Given the description of an element on the screen output the (x, y) to click on. 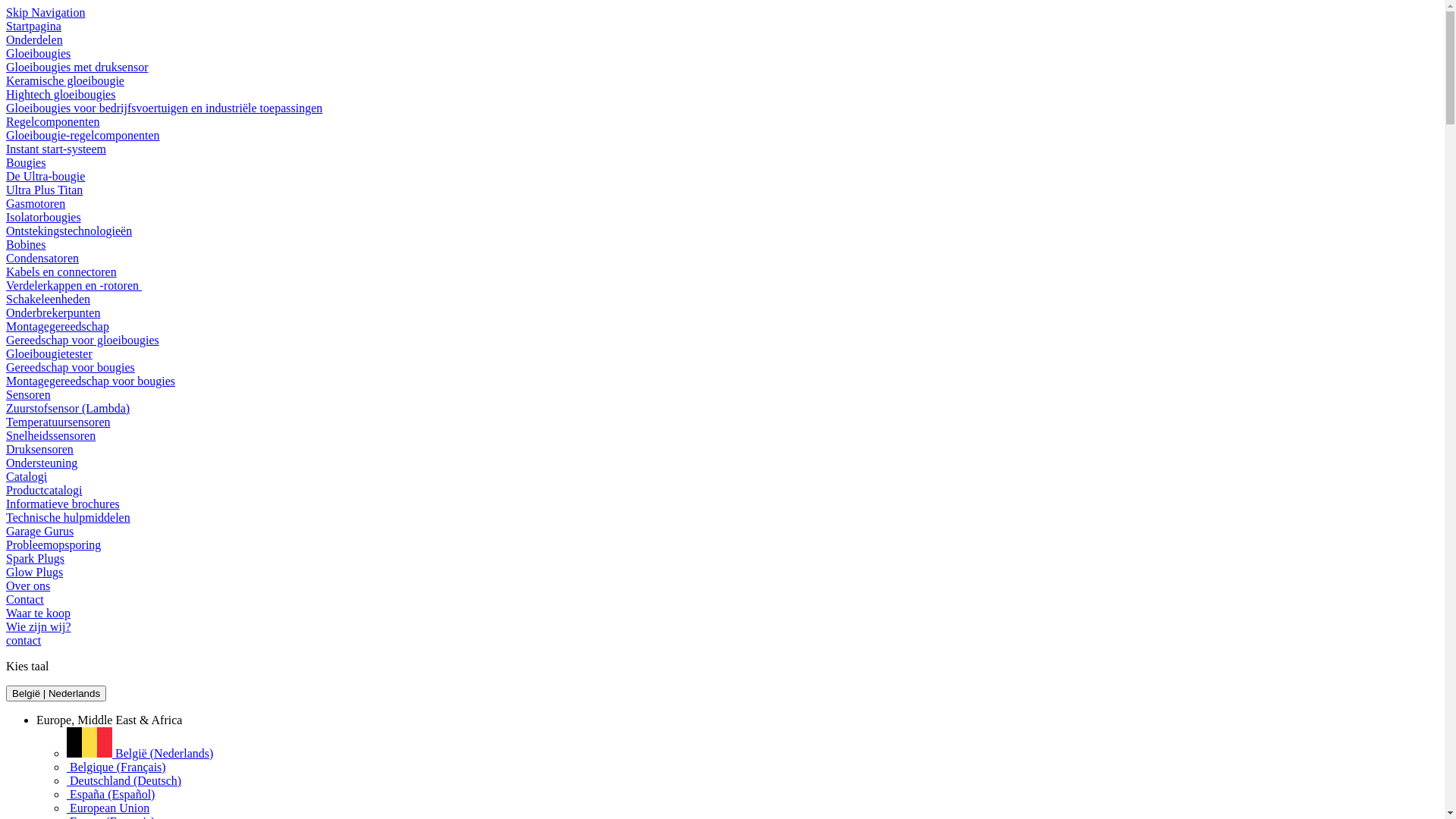
Garage Gurus Element type: text (39, 530)
Startpagina Element type: text (33, 25)
Gloeibougietester Element type: text (49, 353)
Technische hulpmiddelen Element type: text (68, 517)
Keramische gloeibougie Element type: text (65, 80)
Glow Plugs Element type: text (34, 571)
Temperatuursensoren Element type: text (58, 421)
Verdelerkappen en -rotoren  Element type: text (73, 285)
contact Element type: text (23, 639)
Over ons Element type: text (28, 585)
Isolatorbougies Element type: text (43, 216)
Wie zijn wij? Element type: text (38, 626)
Gereedschap voor gloeibougies Element type: text (82, 339)
Instant start-systeem Element type: text (56, 148)
Sensoren Element type: text (28, 394)
Informatieve brochures Element type: text (62, 503)
De Ultra-bougie Element type: text (45, 175)
Catalogi Element type: text (26, 476)
Schakeleenheden Element type: text (48, 298)
Skip Navigation Element type: text (45, 12)
Probleemopsporing Element type: text (53, 544)
European Union Element type: text (107, 807)
Productcatalogi Element type: text (43, 489)
Contact Element type: text (24, 599)
Bobines Element type: text (25, 244)
Bougies Element type: text (25, 162)
Gasmotoren Element type: text (35, 203)
Kabels en connectoren Element type: text (61, 271)
Gloeibougie-regelcomponenten Element type: text (83, 134)
Deutschland (Deutsch) Element type: text (123, 780)
Druksensoren Element type: text (39, 448)
Condensatoren Element type: text (42, 257)
Ultra Plus Titan Element type: text (44, 189)
Gereedschap voor bougies Element type: text (70, 366)
Onderdelen Element type: text (34, 39)
Ondersteuning Element type: text (41, 462)
Montagegereedschap voor bougies Element type: text (90, 380)
Hightech gloeibougies Element type: text (60, 93)
Regelcomponenten Element type: text (53, 121)
Gloeibougies Element type: text (38, 53)
Spark Plugs Element type: text (35, 558)
Waar te koop Element type: text (38, 612)
Snelheidssensoren Element type: text (50, 435)
Montagegereedschap Element type: text (57, 326)
Zuurstofsensor (Lambda) Element type: text (67, 407)
Gloeibougies met druksensor Element type: text (77, 66)
Onderbrekerpunten Element type: text (53, 312)
